Given the description of an element on the screen output the (x, y) to click on. 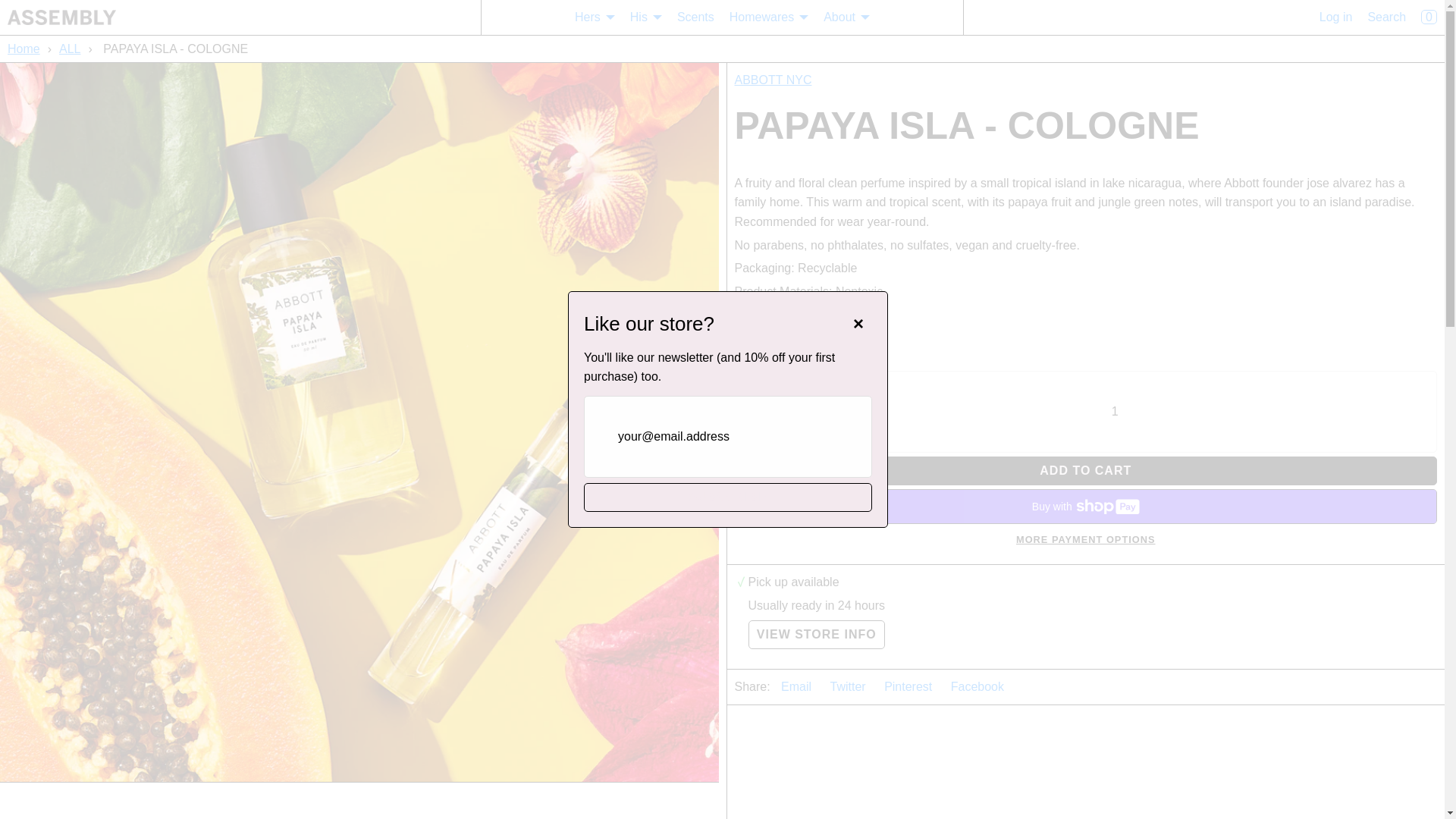
ABBOTT NYC (771, 79)
Home (25, 49)
1 (1114, 411)
